Given the description of an element on the screen output the (x, y) to click on. 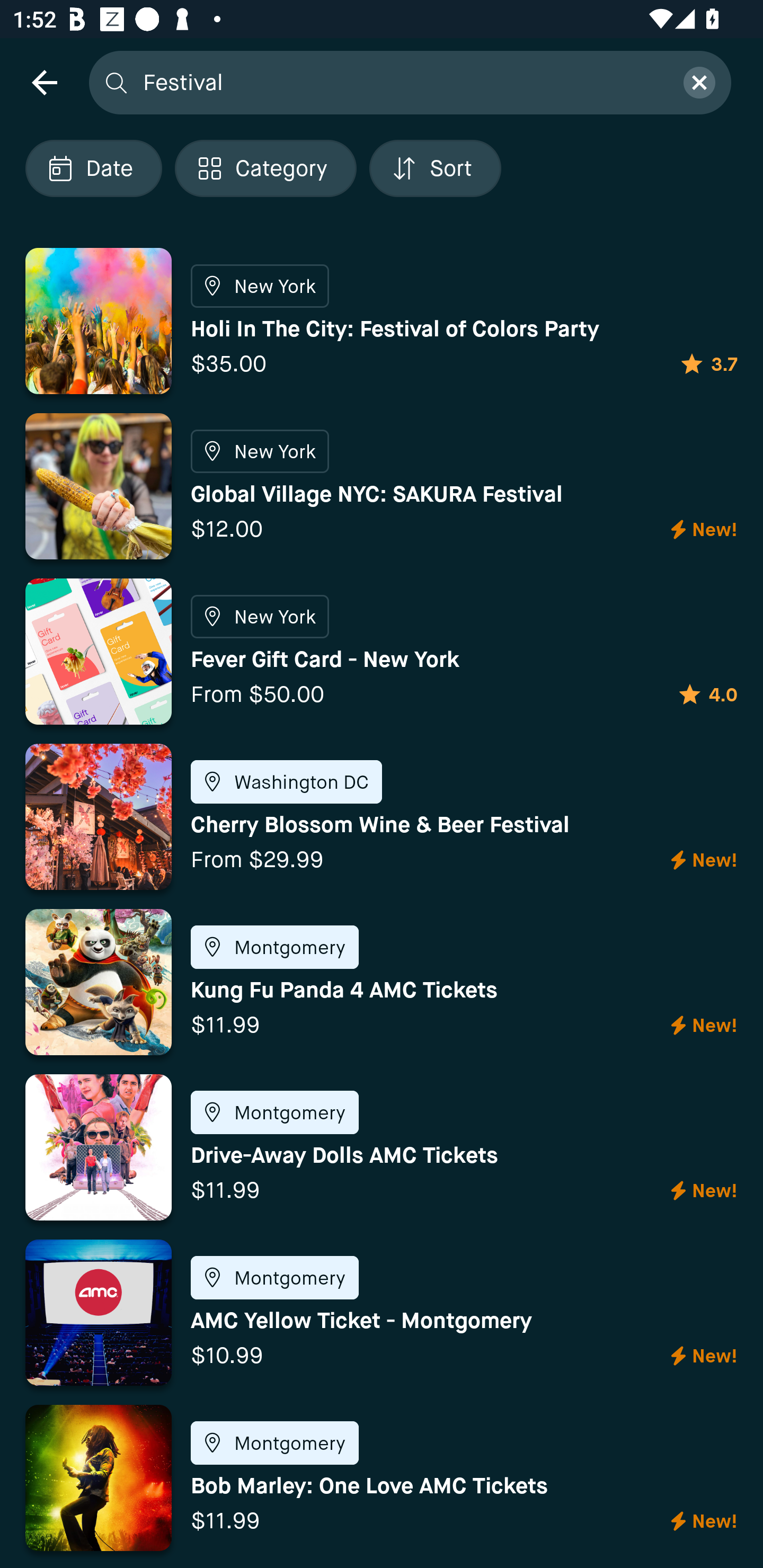
navigation icon (44, 81)
Festival (402, 81)
Localized description Date (93, 168)
Localized description Category (265, 168)
Localized description Sort (435, 168)
